Given the description of an element on the screen output the (x, y) to click on. 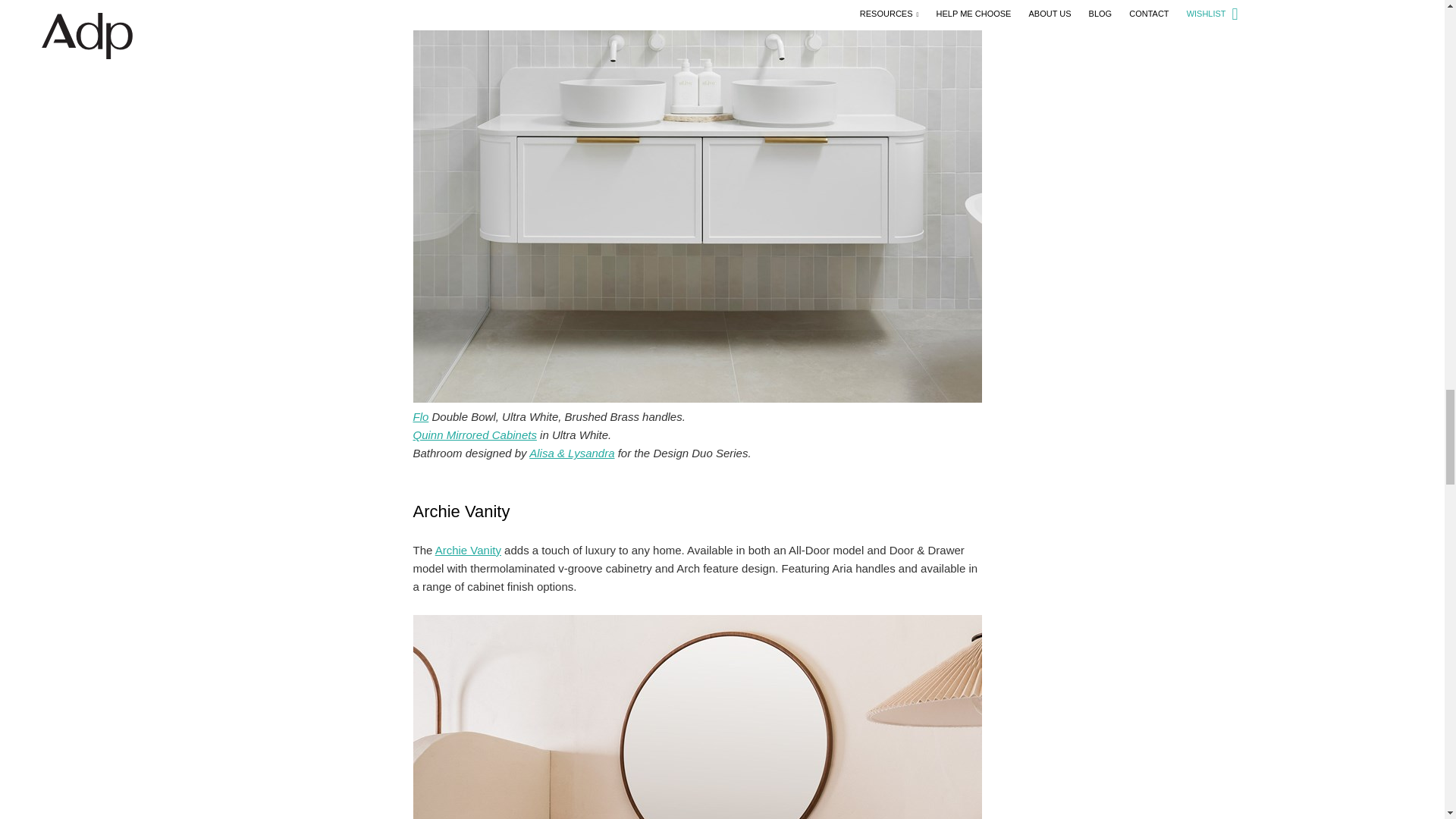
Archie (467, 549)
Flo (420, 416)
Quinn (473, 434)
